Given the description of an element on the screen output the (x, y) to click on. 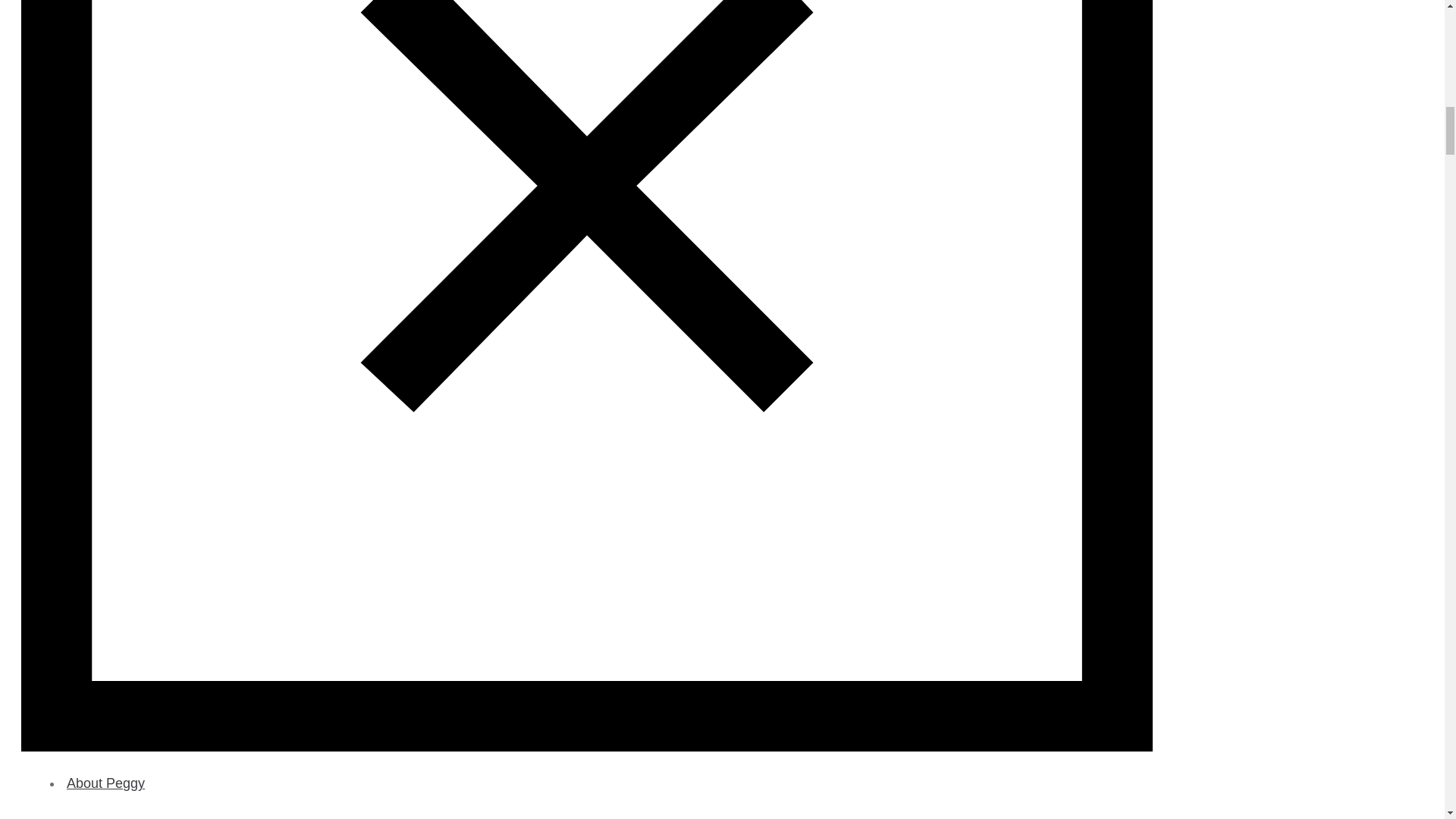
About Peggy (601, 797)
